Given the description of an element on the screen output the (x, y) to click on. 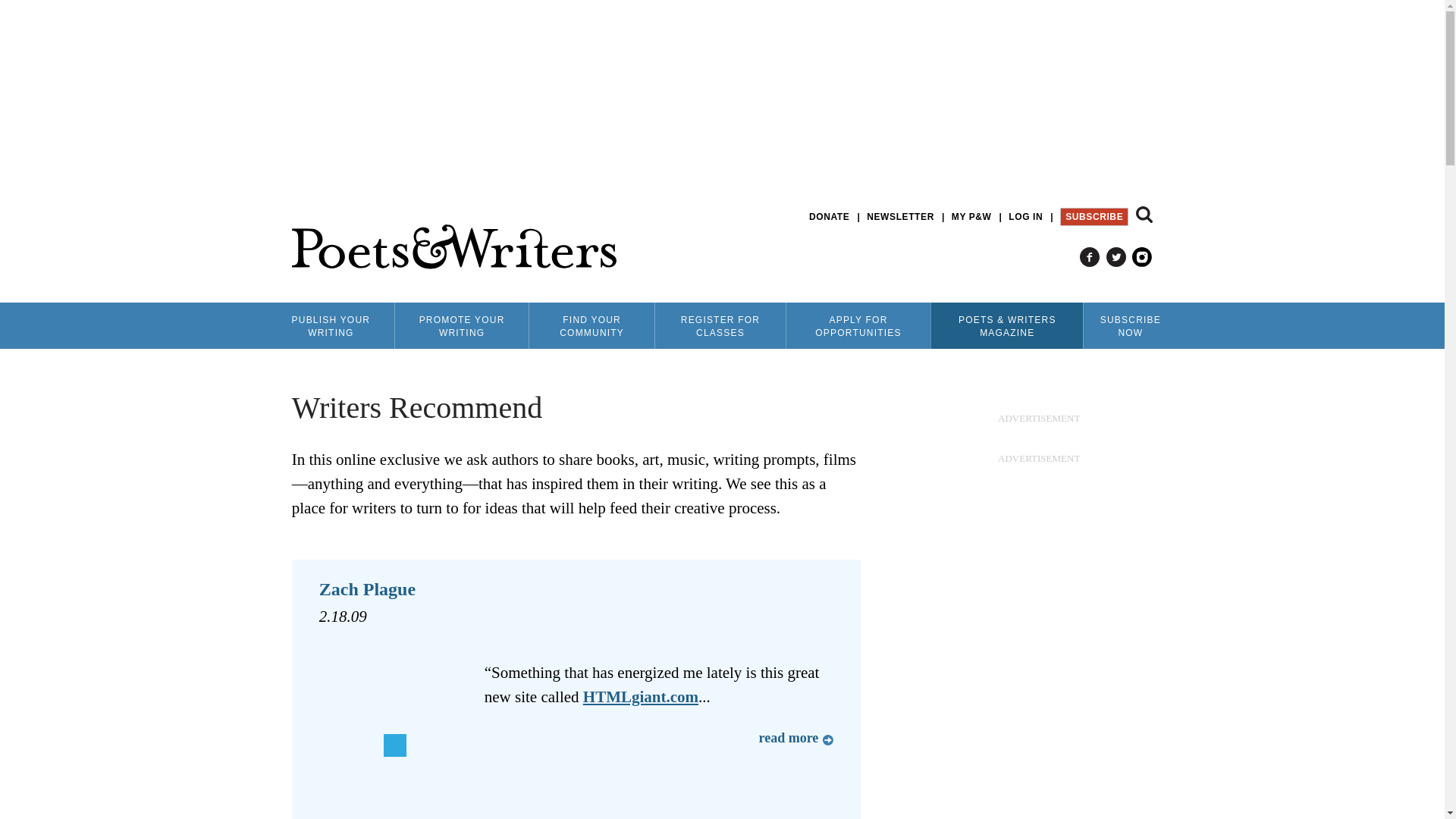
Publish Your Writing (330, 325)
PROMOTE YOUR WRITING (461, 325)
PUBLISH YOUR WRITING (330, 325)
NEWSLETTER (900, 216)
LOG IN (1025, 216)
Home (453, 246)
SUBSCRIBE (1093, 217)
DONATE (828, 216)
